Given the description of an element on the screen output the (x, y) to click on. 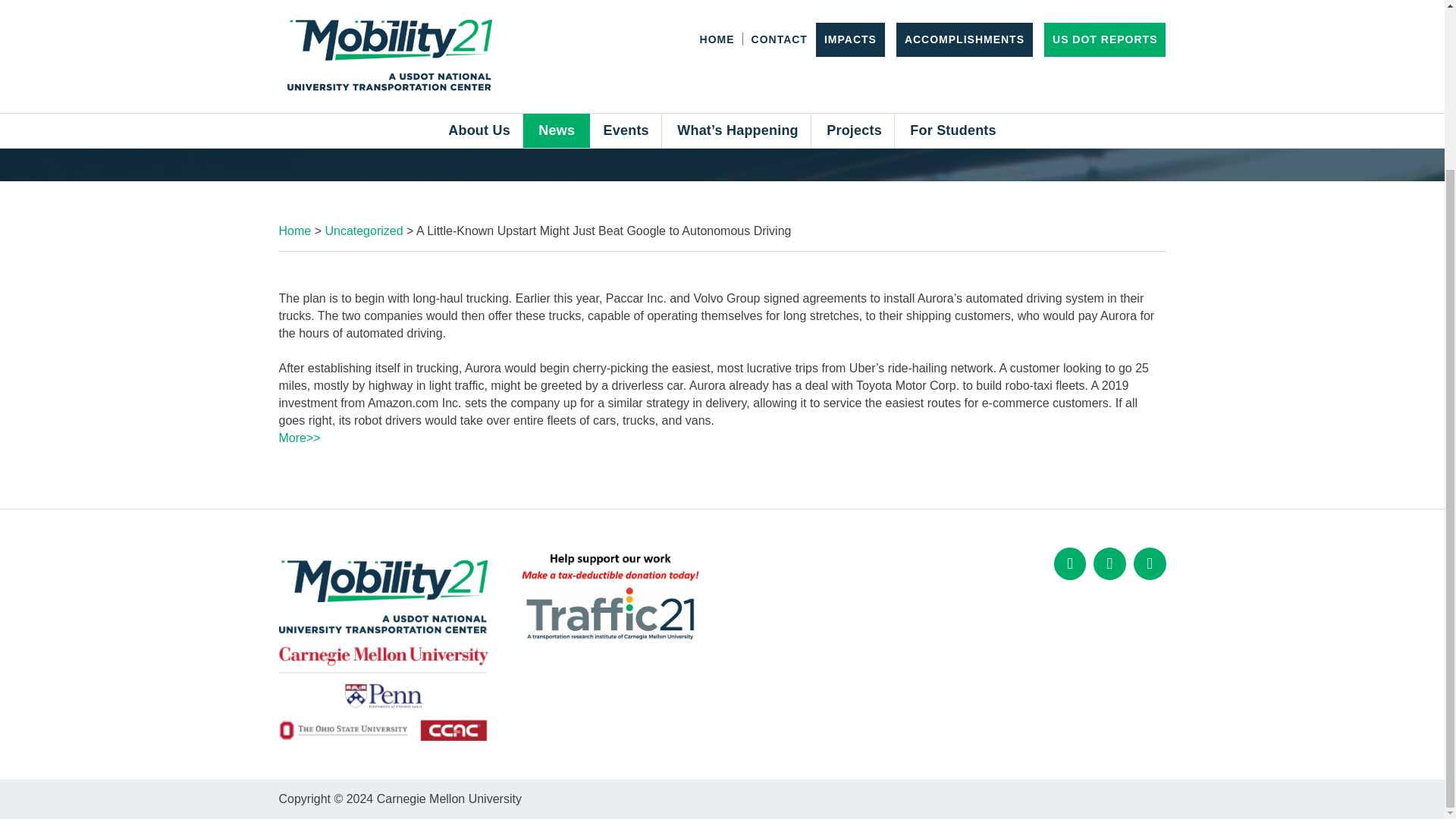
Go to M21. (295, 230)
YouTube (1150, 563)
Facebook (1070, 563)
Go to the Uncategorized category archives. (363, 230)
Twitter (1109, 563)
